Given the description of an element on the screen output the (x, y) to click on. 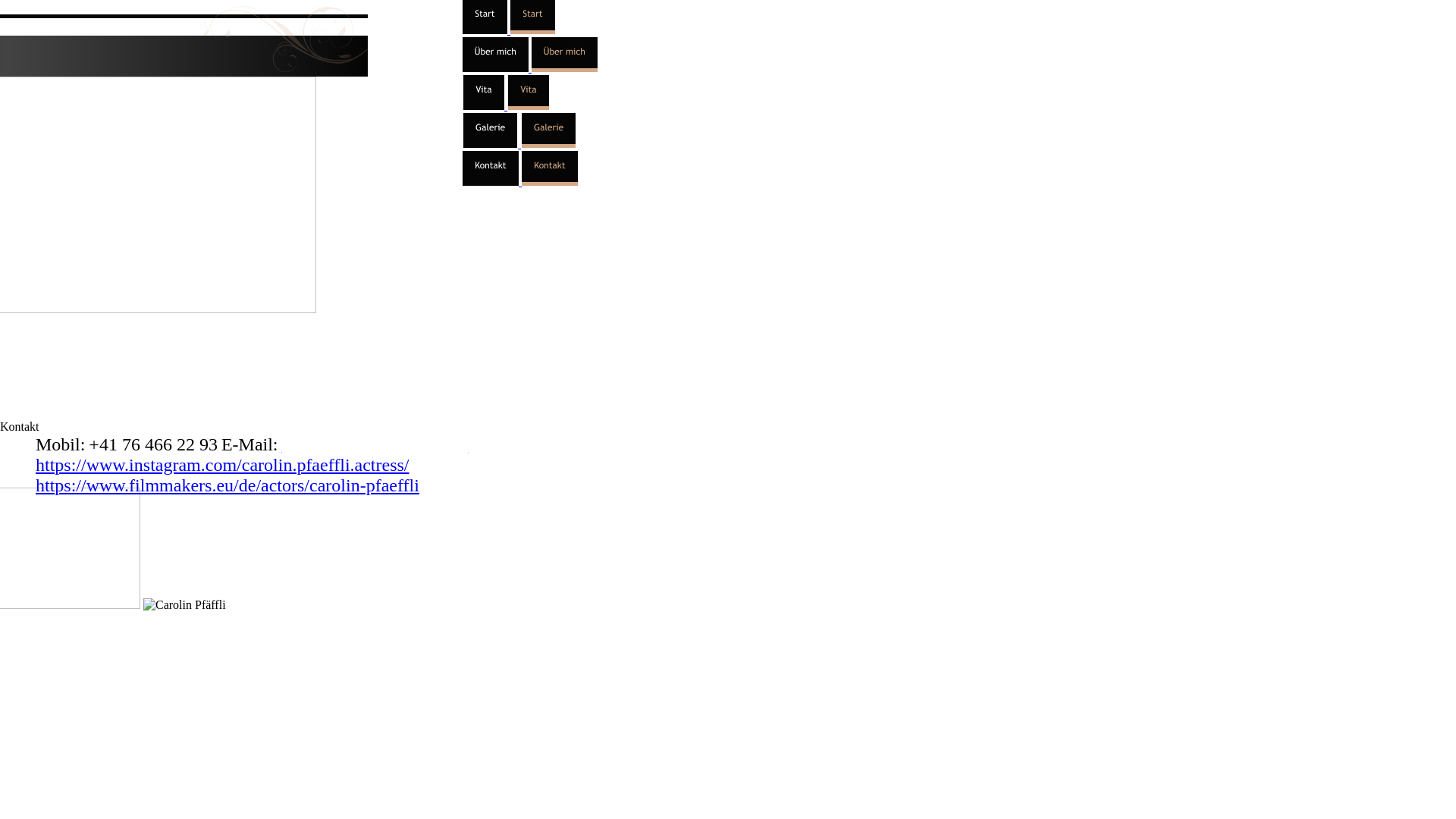
acting@carolinpfaeffli.ch Element type: text (375, 444)
https://www.filmmakers.eu/de/actors/carolin-pfaeffli Element type: text (227, 485)
https://www.instagram.com/carolin.pfaeffli.actress/ Element type: text (222, 464)
